Given the description of an element on the screen output the (x, y) to click on. 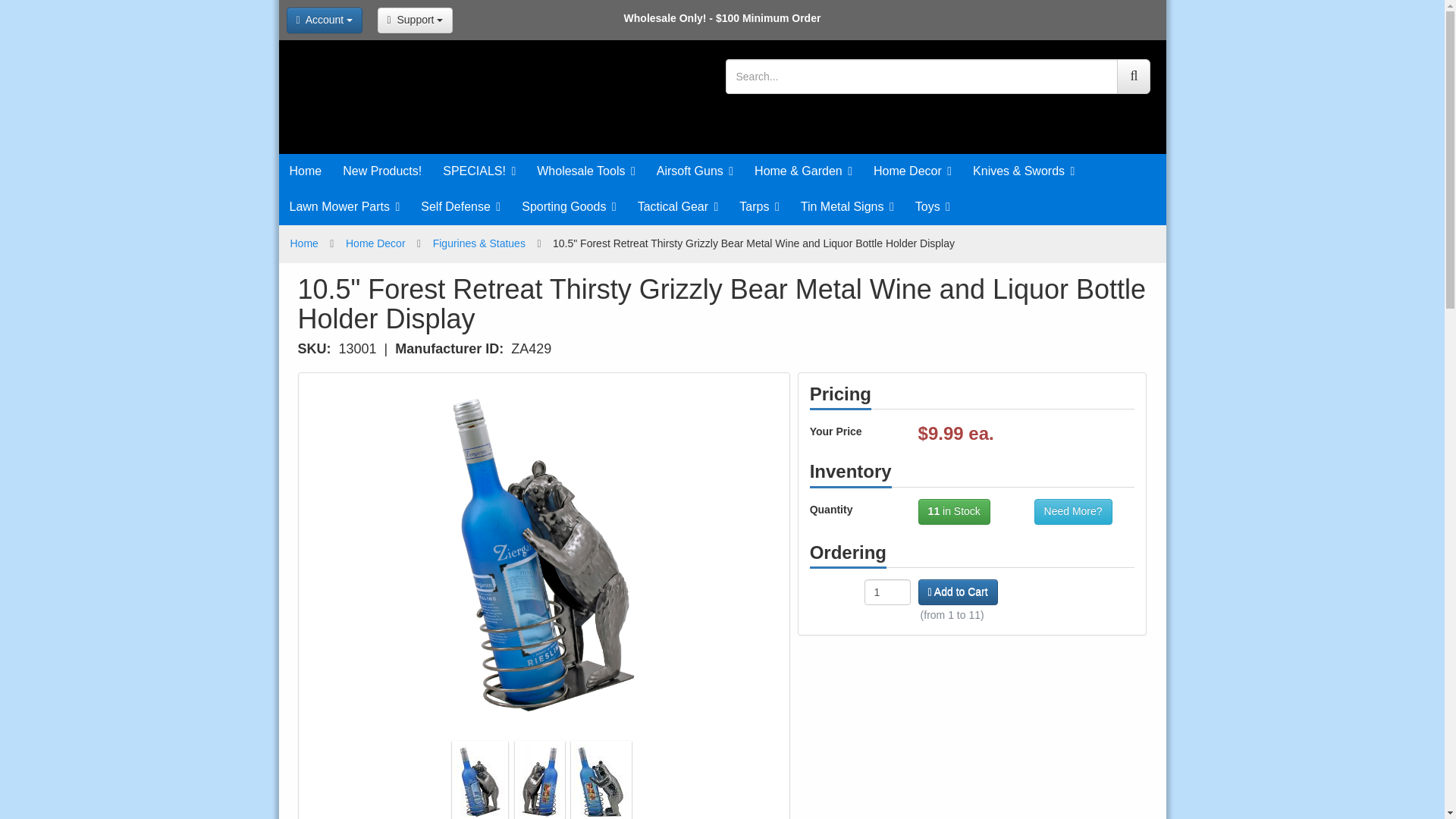
New Products! (381, 171)
Specials! (478, 171)
  Support  (414, 20)
Home (306, 171)
  Account  (324, 20)
Wholesale Tools (585, 171)
1 (887, 592)
SPECIALS! (478, 171)
